Given the description of an element on the screen output the (x, y) to click on. 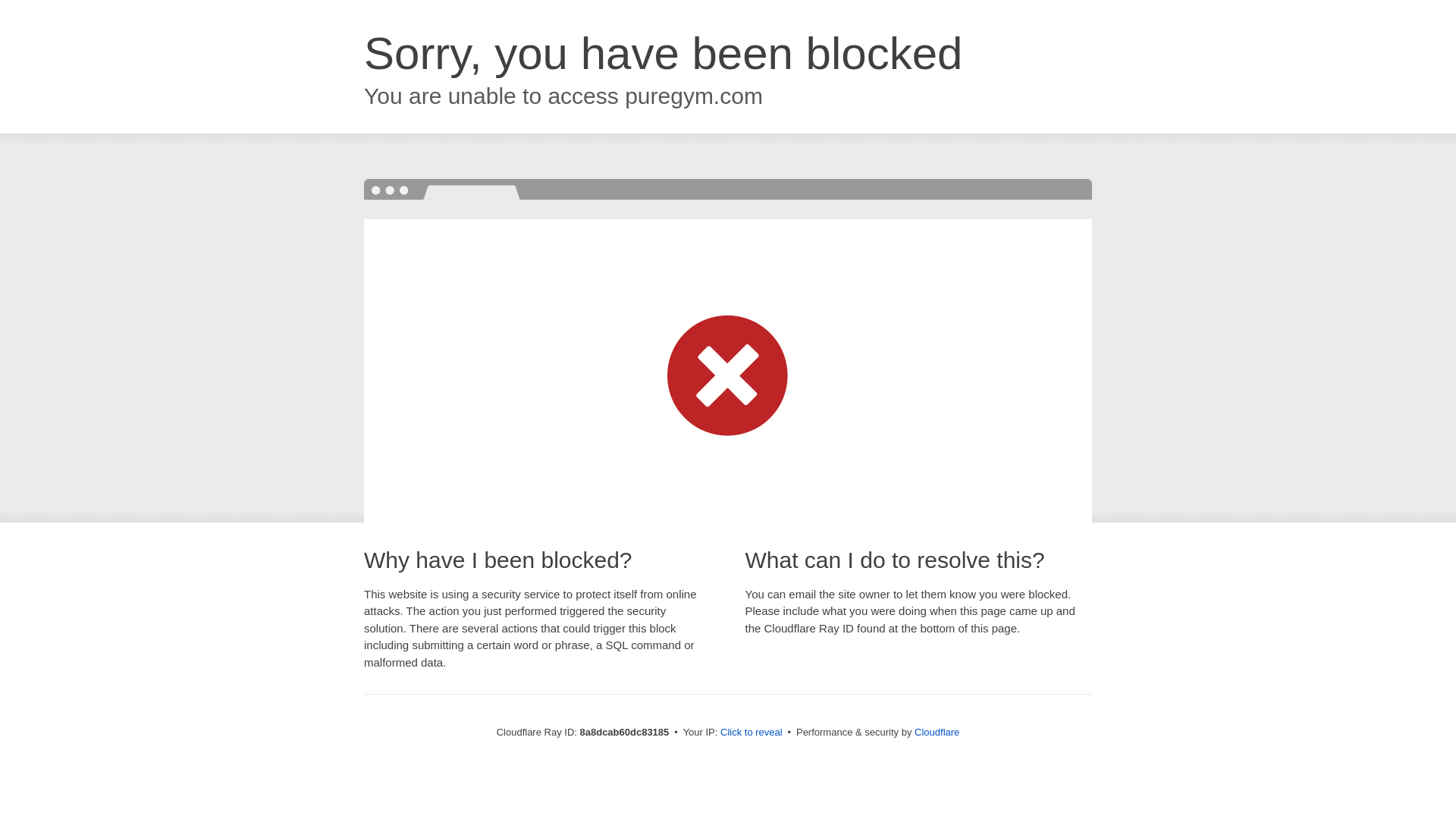
Click to reveal (751, 732)
Cloudflare (936, 731)
